Given the description of an element on the screen output the (x, y) to click on. 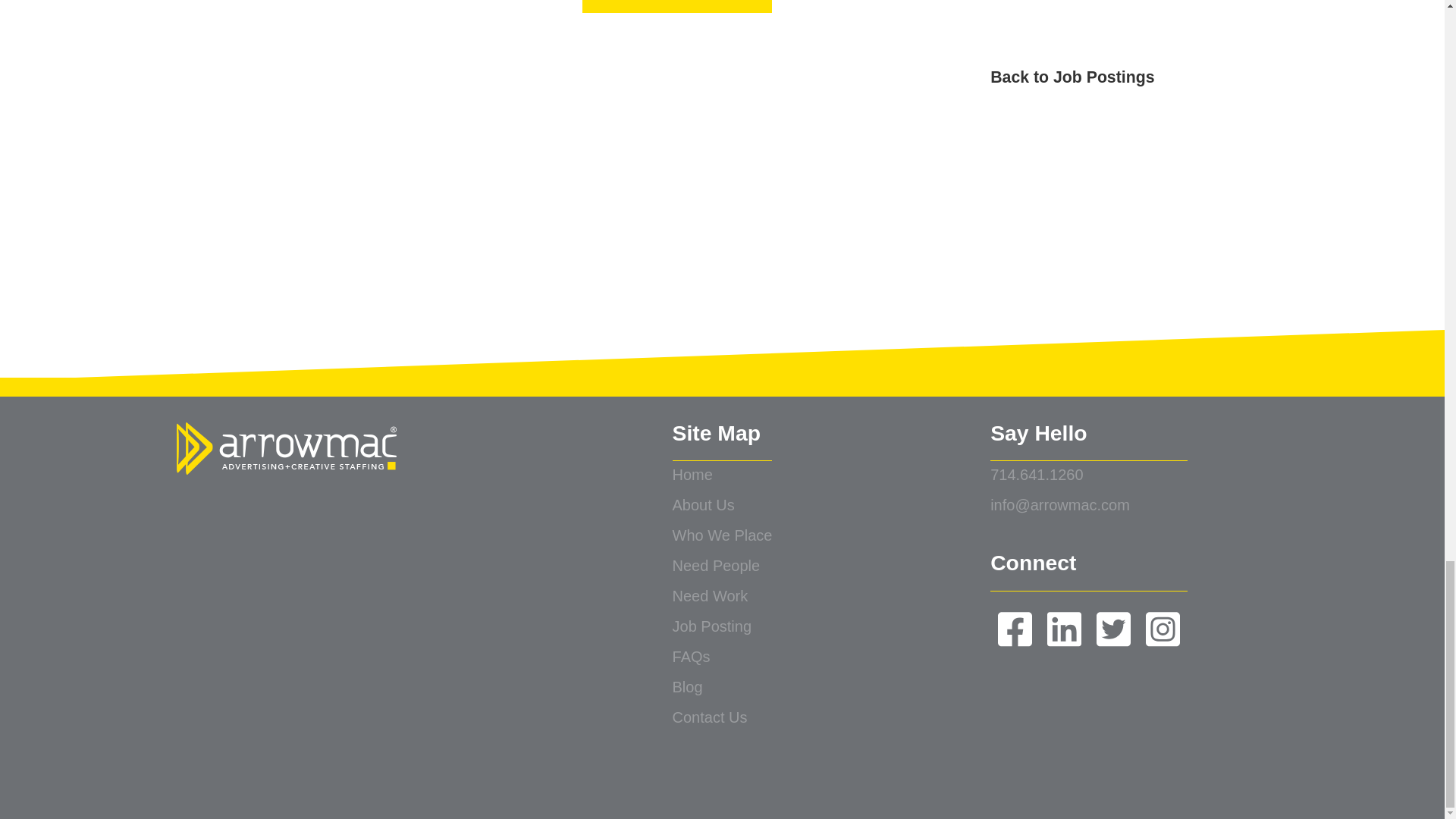
Back to Job Postings (721, 77)
Need Work (722, 597)
Who We Place (722, 536)
Job Posting (722, 627)
714.641.1260 (1089, 476)
Home (722, 476)
Submit (676, 6)
About Us (722, 506)
Need People (722, 567)
Submit (676, 6)
Blog (722, 688)
Contact Us (722, 718)
FAQs (722, 657)
